Given the description of an element on the screen output the (x, y) to click on. 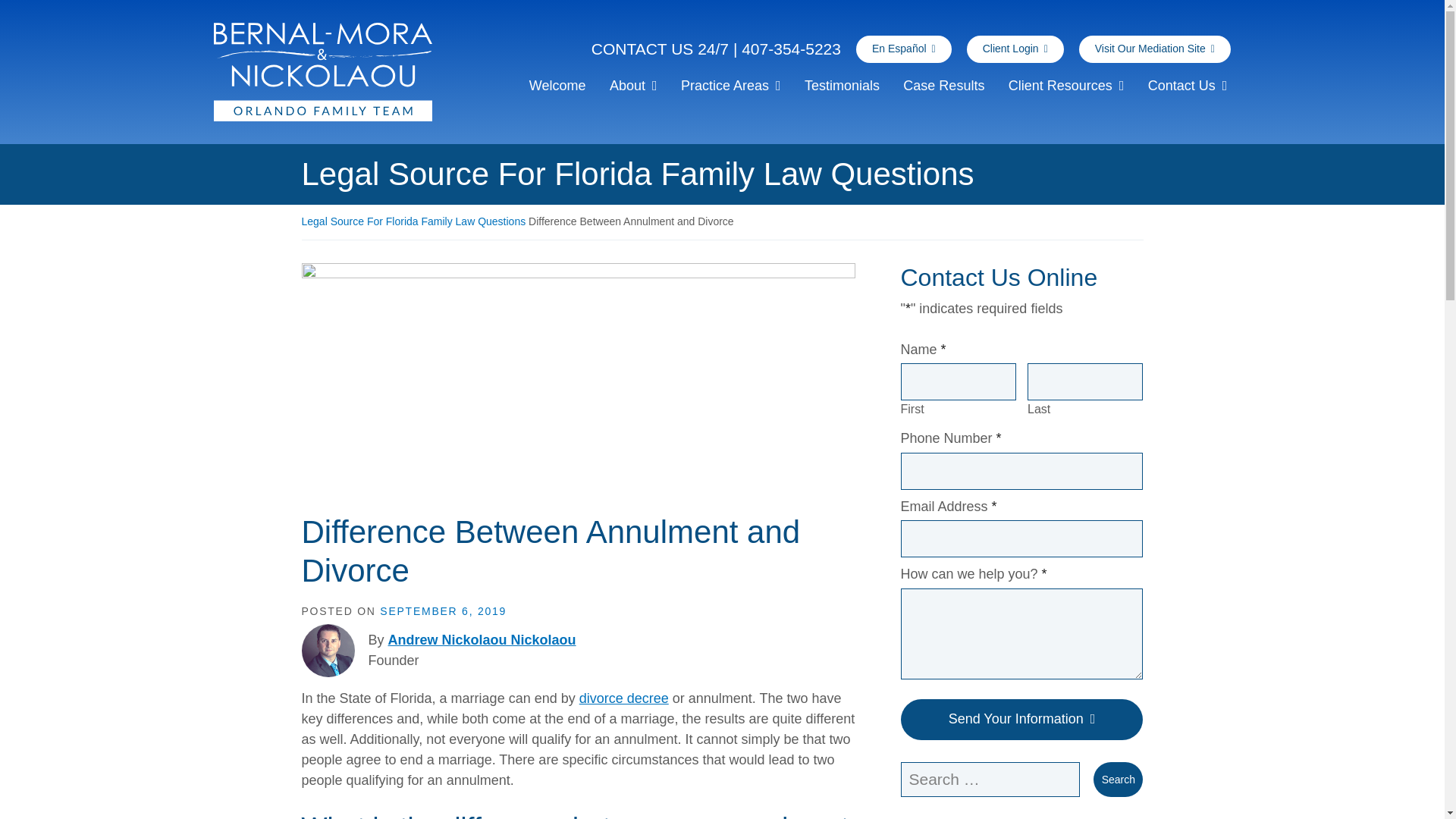
About (633, 88)
Search (1117, 779)
Visit Our Mediation Site (1154, 49)
407-354-5223 (791, 48)
Welcome (557, 88)
Search (1117, 779)
Return home (358, 71)
Practice Areas (730, 88)
Search for: (990, 779)
Client Login (1015, 49)
